Given the description of an element on the screen output the (x, y) to click on. 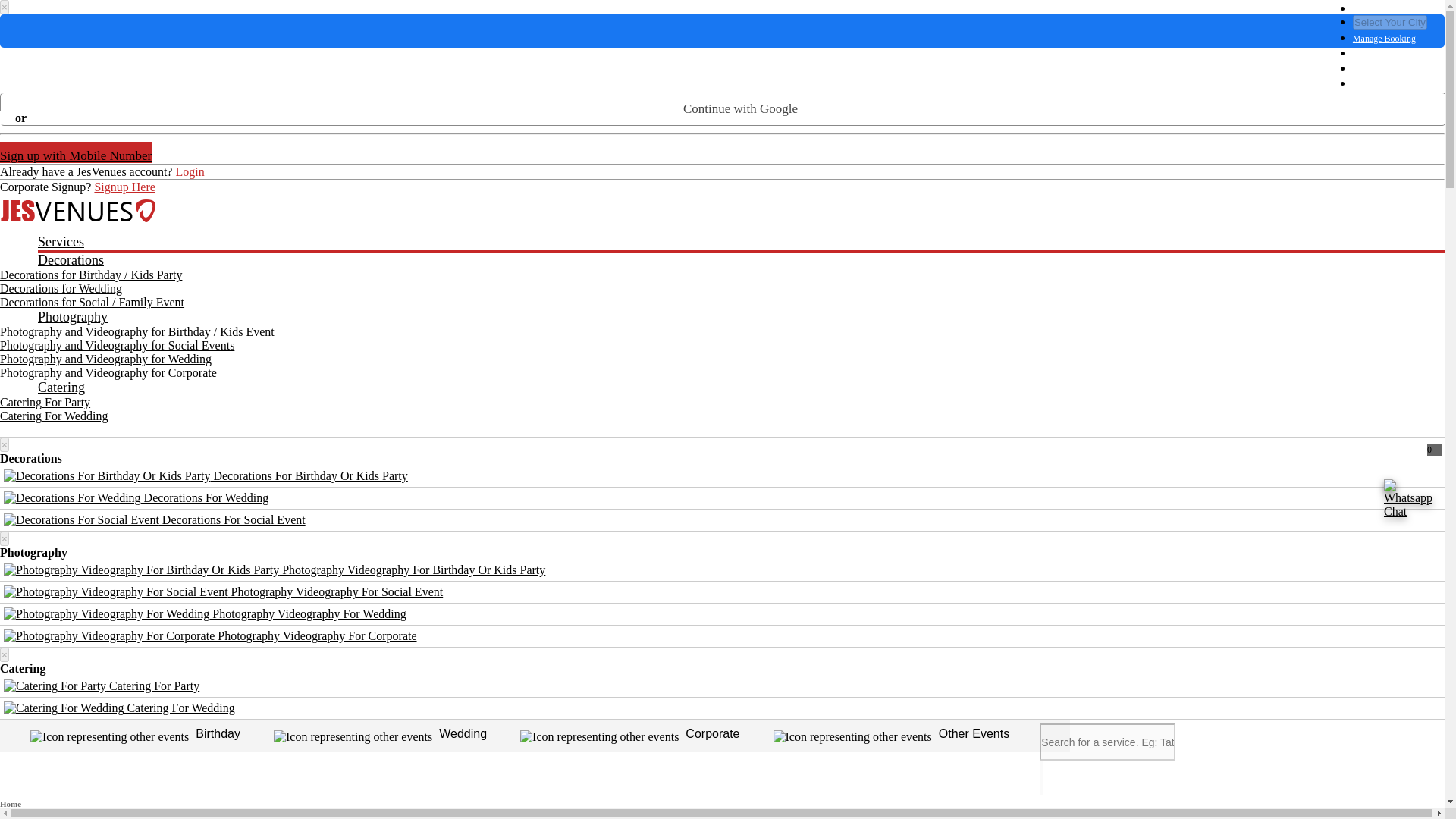
Login JesVenues (188, 171)
Sign Up (1389, 69)
Decorations (740, 260)
Login JesVenues (1389, 53)
Photography and Videography for Wedding (105, 358)
Services (740, 243)
Decorations For Social Event (154, 519)
Manage Booking (1389, 39)
List Your Service (1389, 83)
Services (740, 243)
Sign up with Mobile Number (75, 151)
Photography and Videography for Wedding (105, 358)
